Given the description of an element on the screen output the (x, y) to click on. 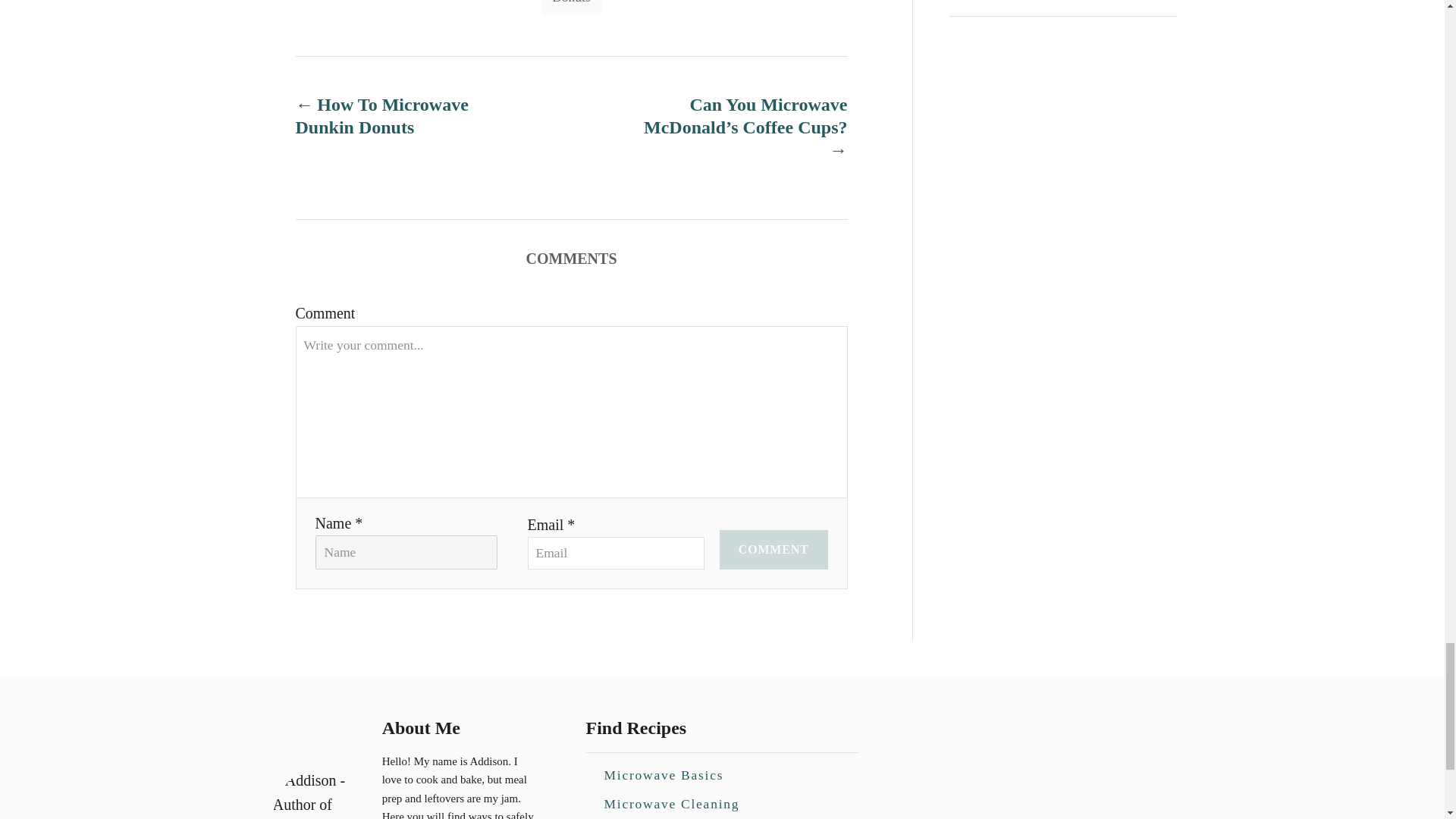
Microwave Cooking (669, 817)
How To Microwave Dunkin Donuts (405, 115)
Microwave Cleaning (671, 803)
Microwave Basics (663, 774)
Donuts (571, 7)
COMMENT (773, 549)
